Given the description of an element on the screen output the (x, y) to click on. 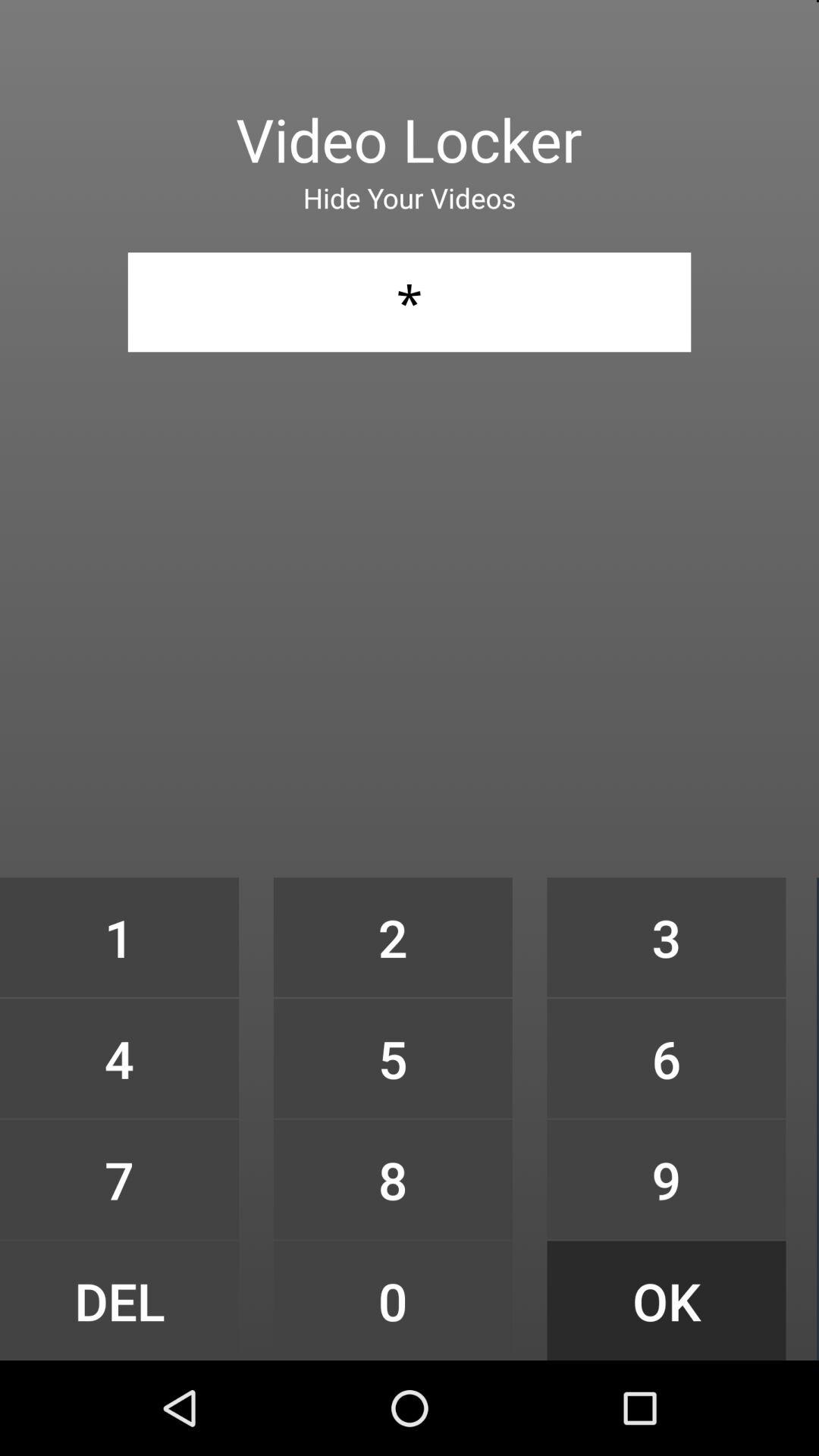
turn on icon to the right of 2 icon (666, 937)
